Given the description of an element on the screen output the (x, y) to click on. 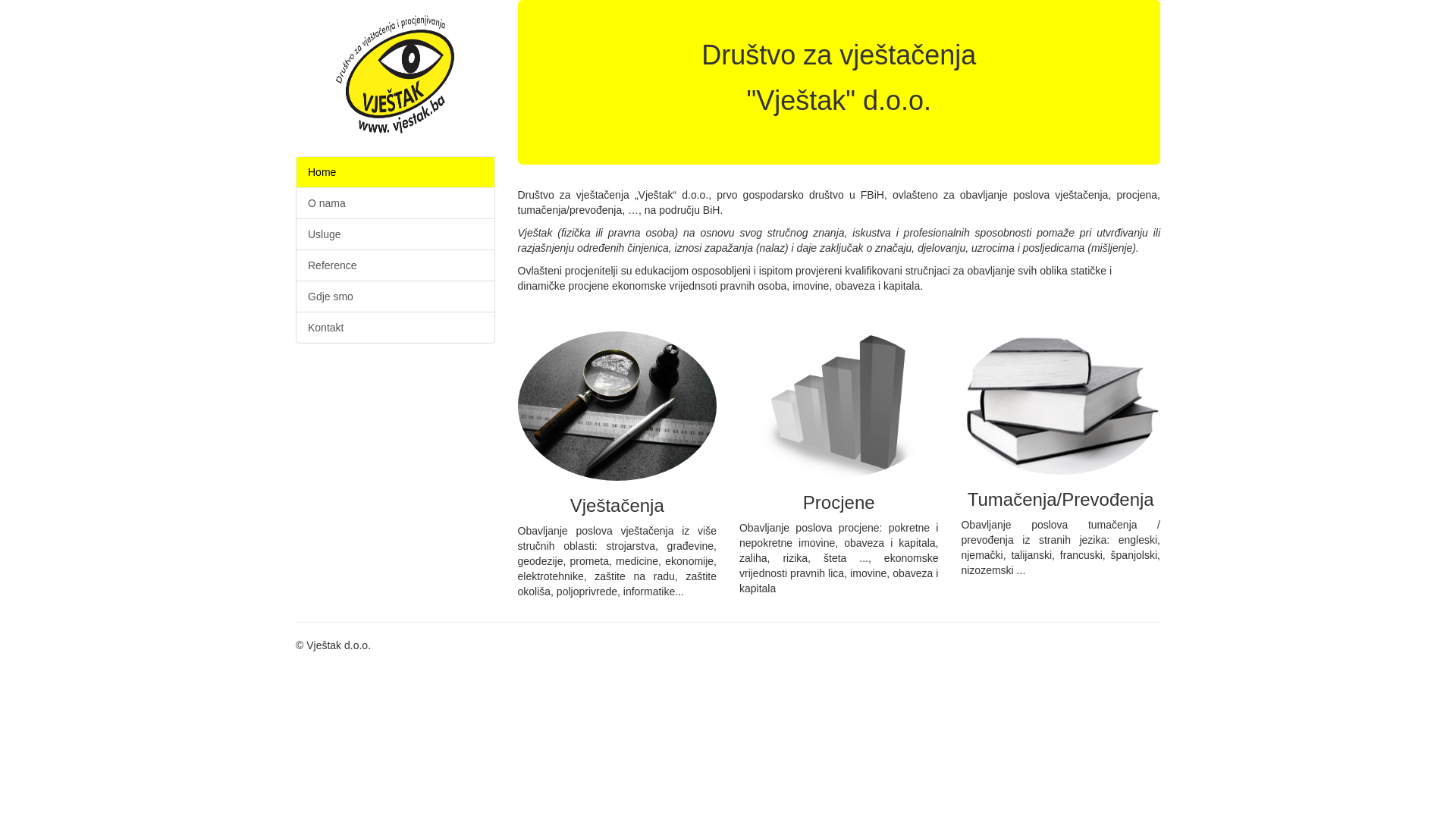
Kontakt Element type: text (395, 327)
Gdje smo Element type: text (395, 296)
O nama Element type: text (395, 203)
Usluge Element type: text (395, 234)
Home Element type: text (395, 172)
Reference Element type: text (395, 265)
